Given the description of an element on the screen output the (x, y) to click on. 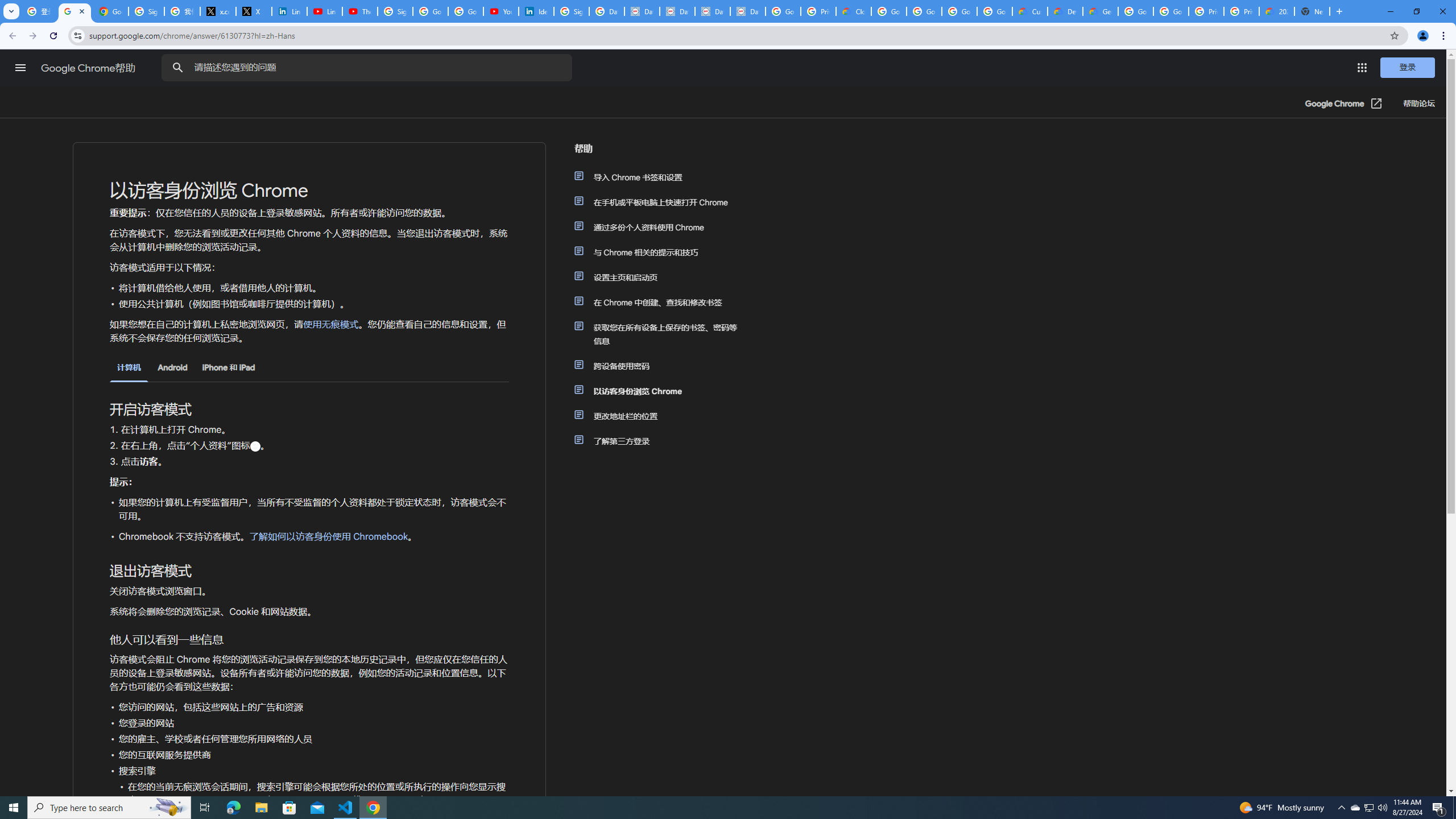
LinkedIn Privacy Policy (288, 11)
LinkedIn - YouTube (324, 11)
Google Cloud Platform (1135, 11)
Android (172, 367)
